Given the description of an element on the screen output the (x, y) to click on. 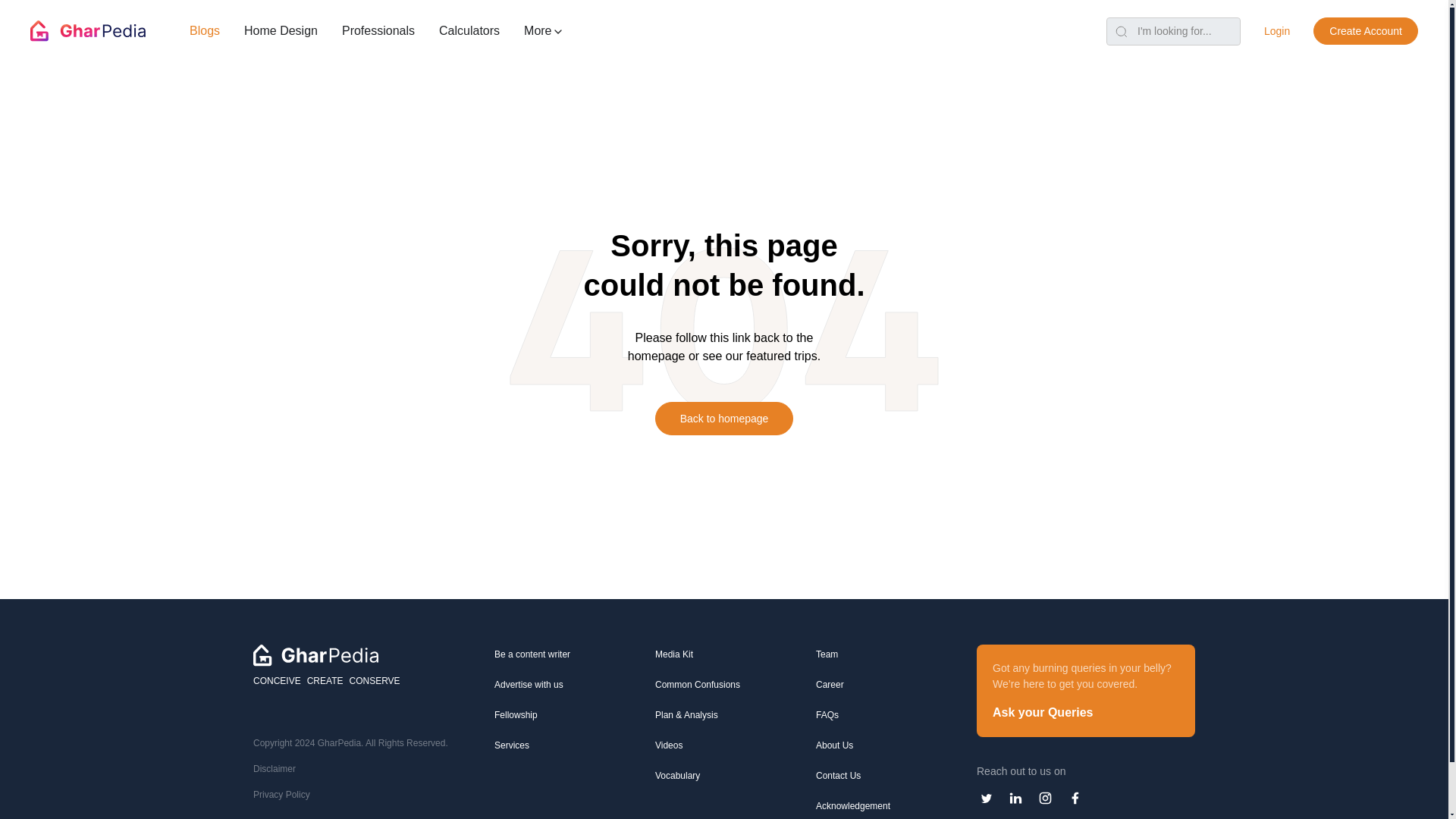
Professionals (378, 30)
Calculators (469, 30)
Blogs (204, 30)
More (543, 30)
Home Design (280, 30)
